Given the description of an element on the screen output the (x, y) to click on. 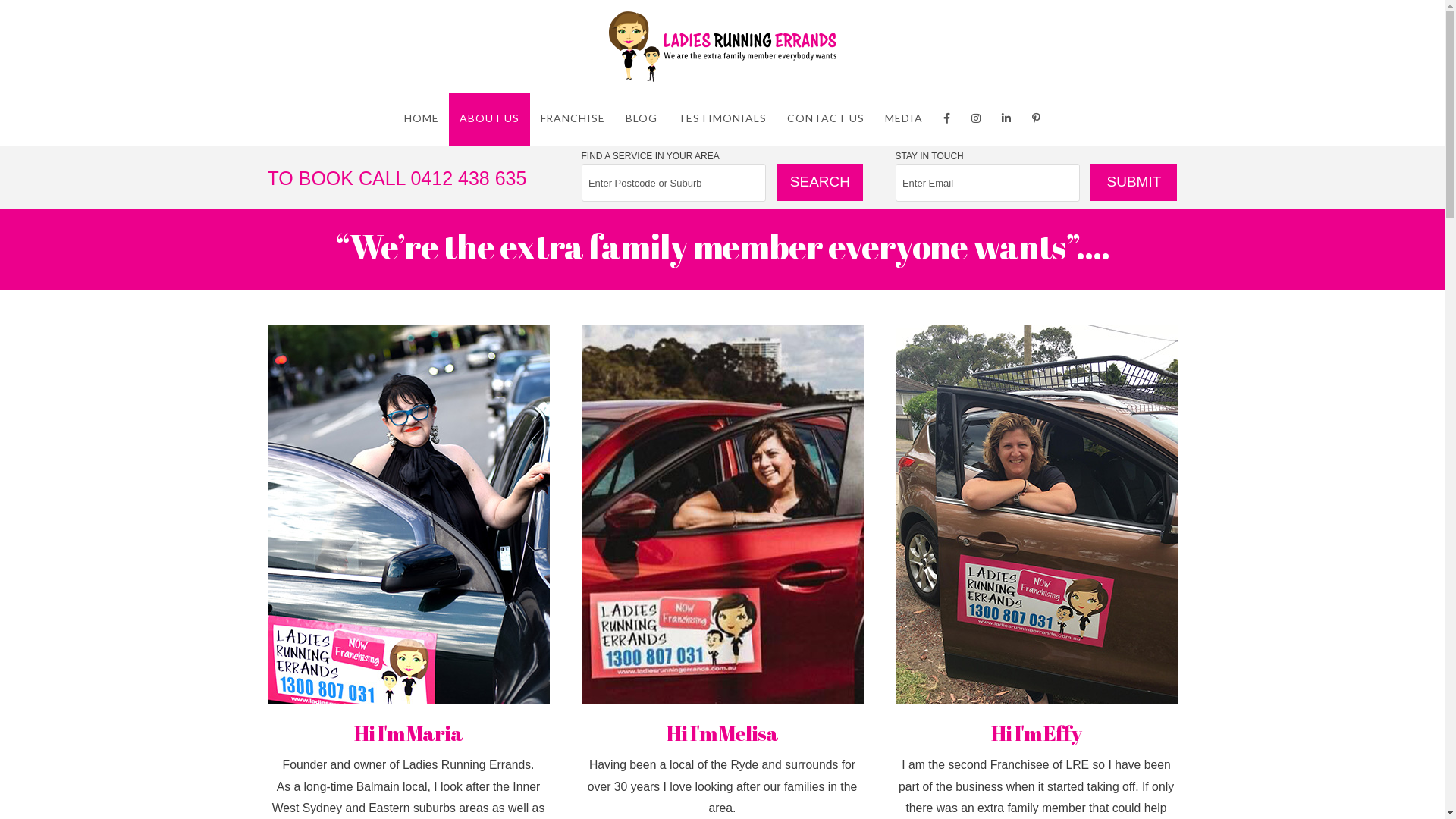
Submit Element type: text (1133, 181)
TESTIMONIALS Element type: text (721, 119)
CONTACT US Element type: text (825, 119)
FRANCHISE Element type: text (572, 119)
HOME Element type: text (420, 119)
Search Element type: text (819, 181)
ABOUT US Element type: text (489, 119)
0412 438 635 Element type: text (468, 177)
BLOG Element type: text (641, 119)
MEDIA Element type: text (903, 119)
